Given the description of an element on the screen output the (x, y) to click on. 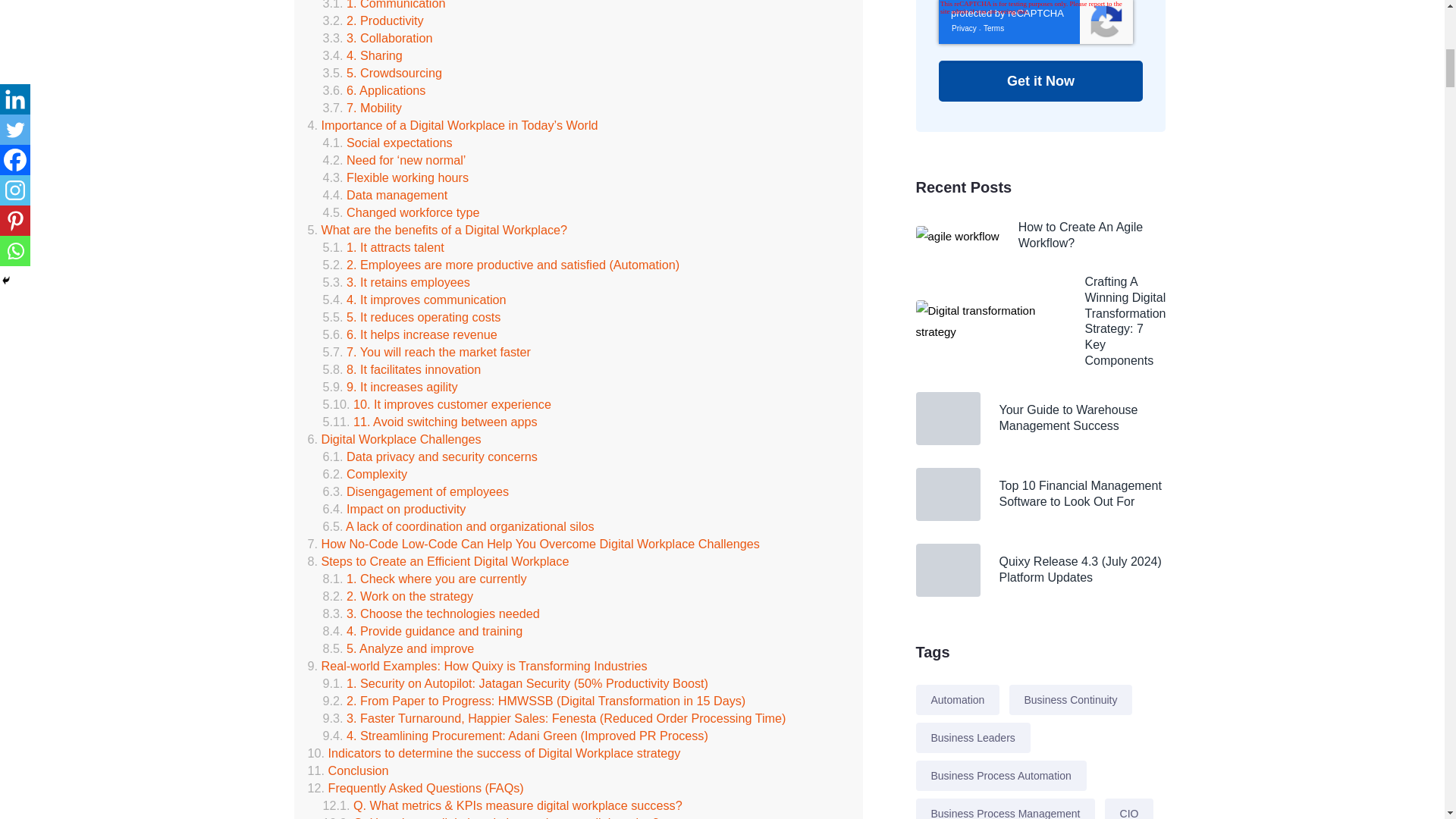
Get it Now (1040, 80)
